Given the description of an element on the screen output the (x, y) to click on. 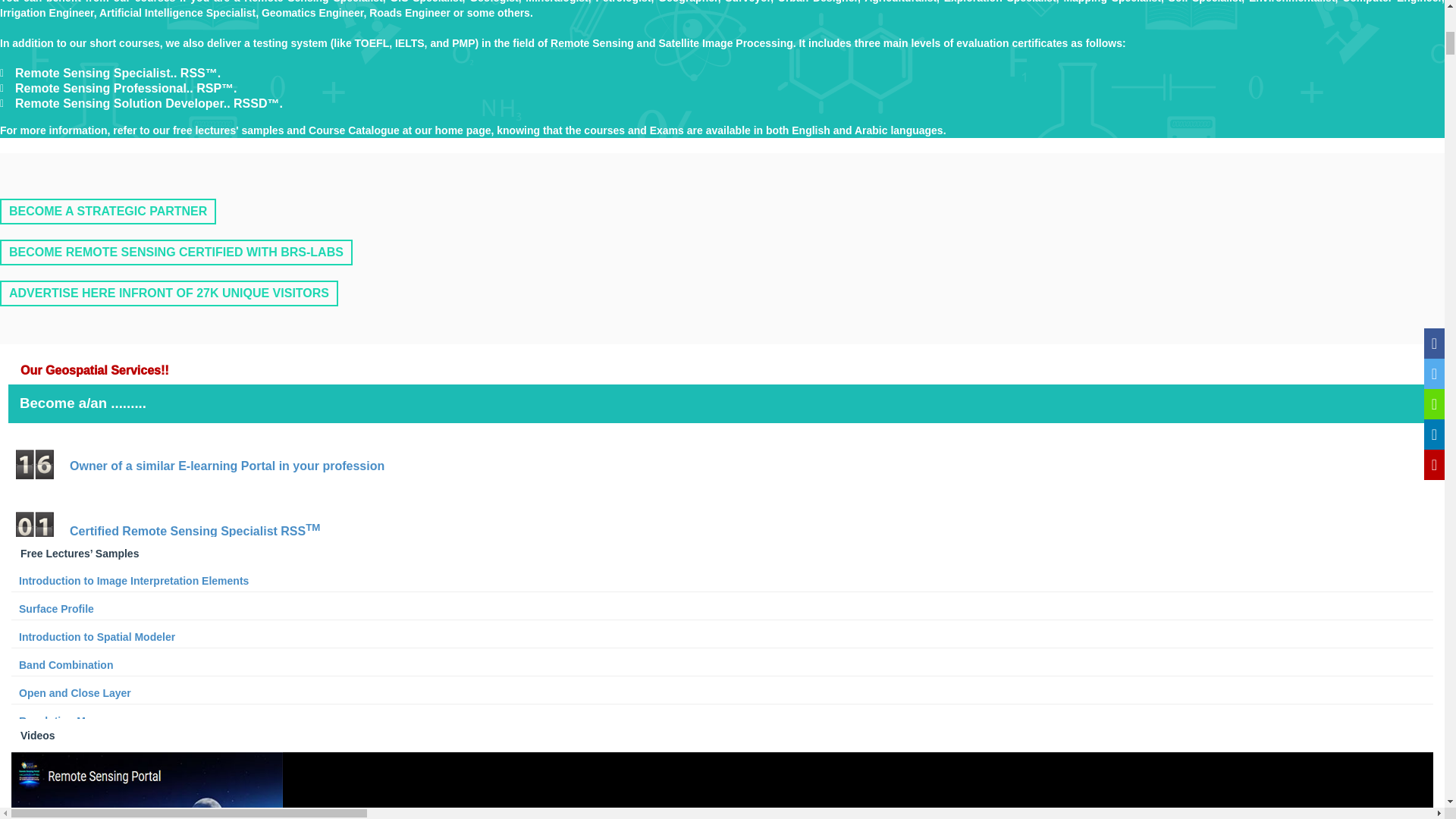
ADVERTISE HERE INFRONT OF 27K UNIQUE VISITORS (168, 293)
Owner of a similar E-learning Portal in your profession (226, 465)
BECOME REMOTE SENSING CERTIFIED WITH BRS-LABS (176, 252)
video 1 (146, 785)
Certified Remote Sensing Specialist RSSTM (194, 530)
BECOME A STRATEGIC PARTNER (107, 211)
